Given the description of an element on the screen output the (x, y) to click on. 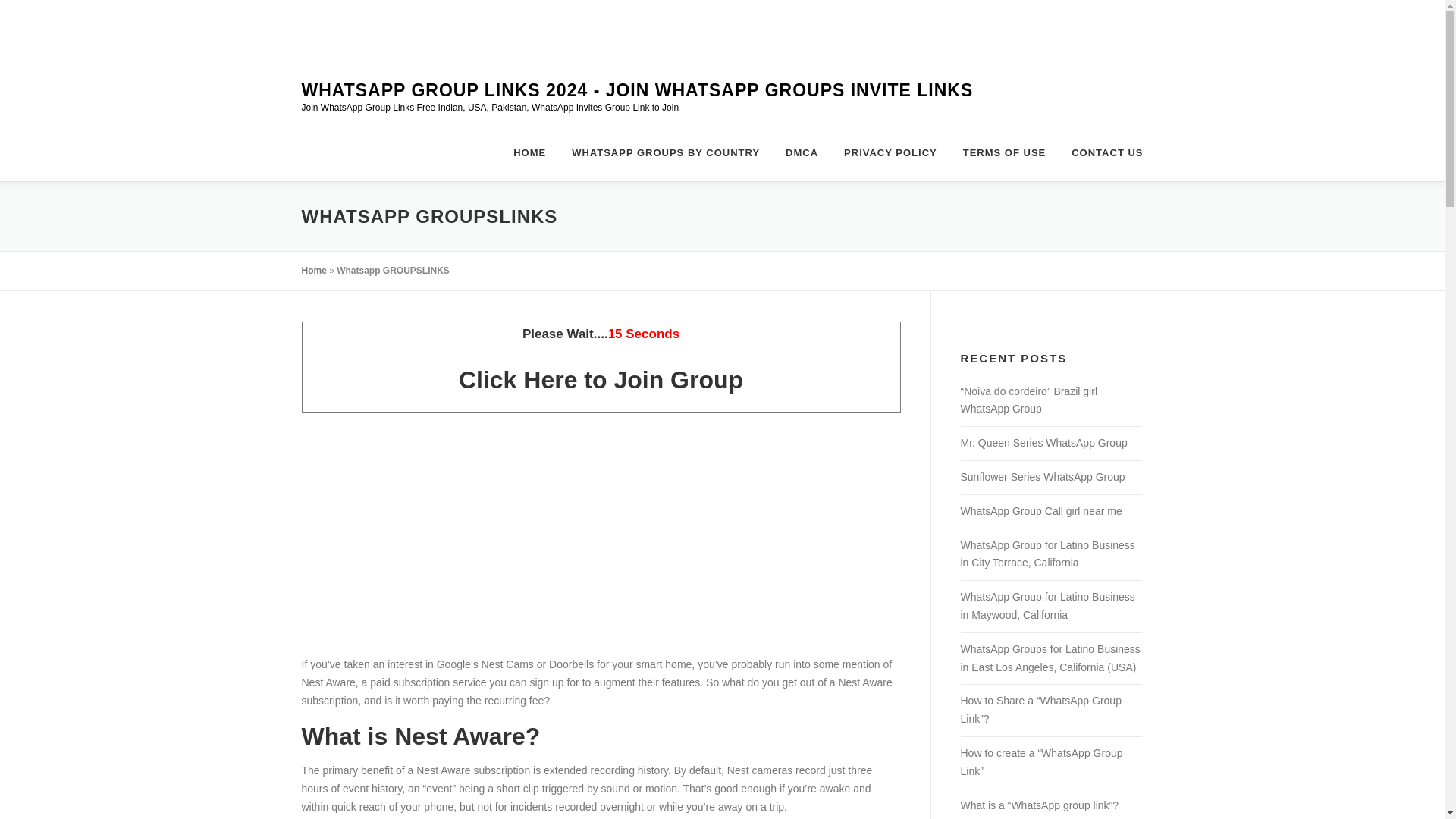
HOME (529, 152)
DMCA (802, 152)
TERMS OF USE (1004, 152)
CONTACT US (1100, 152)
Sunflower Series WhatsApp Group (1041, 476)
PRIVACY POLICY (890, 152)
WhatsApp Group for Latino Business in Maywood, California (1046, 605)
Click Here to Join Group (600, 379)
Home (313, 270)
WhatsApp Group Call girl near me (1040, 510)
Mr. Queen Series WhatsApp Group (1042, 442)
WHATSAPP GROUPS BY COUNTRY (666, 152)
